Given the description of an element on the screen output the (x, y) to click on. 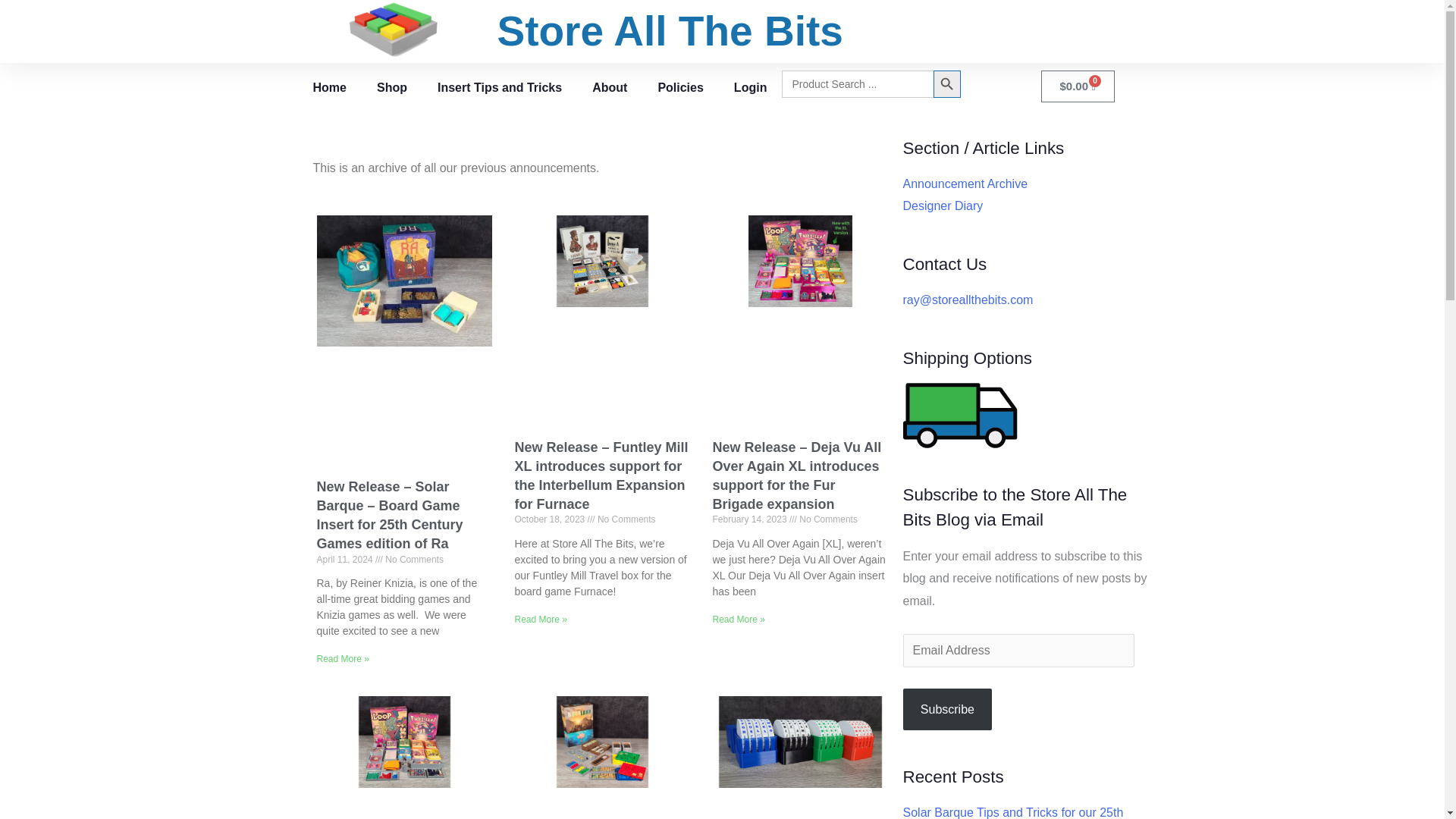
About (609, 86)
Store All The Bits (669, 30)
Search Button (946, 83)
Home (329, 86)
Insert Tips and Tricks (499, 86)
Shop (391, 86)
Policies (679, 86)
Login (751, 86)
